Given the description of an element on the screen output the (x, y) to click on. 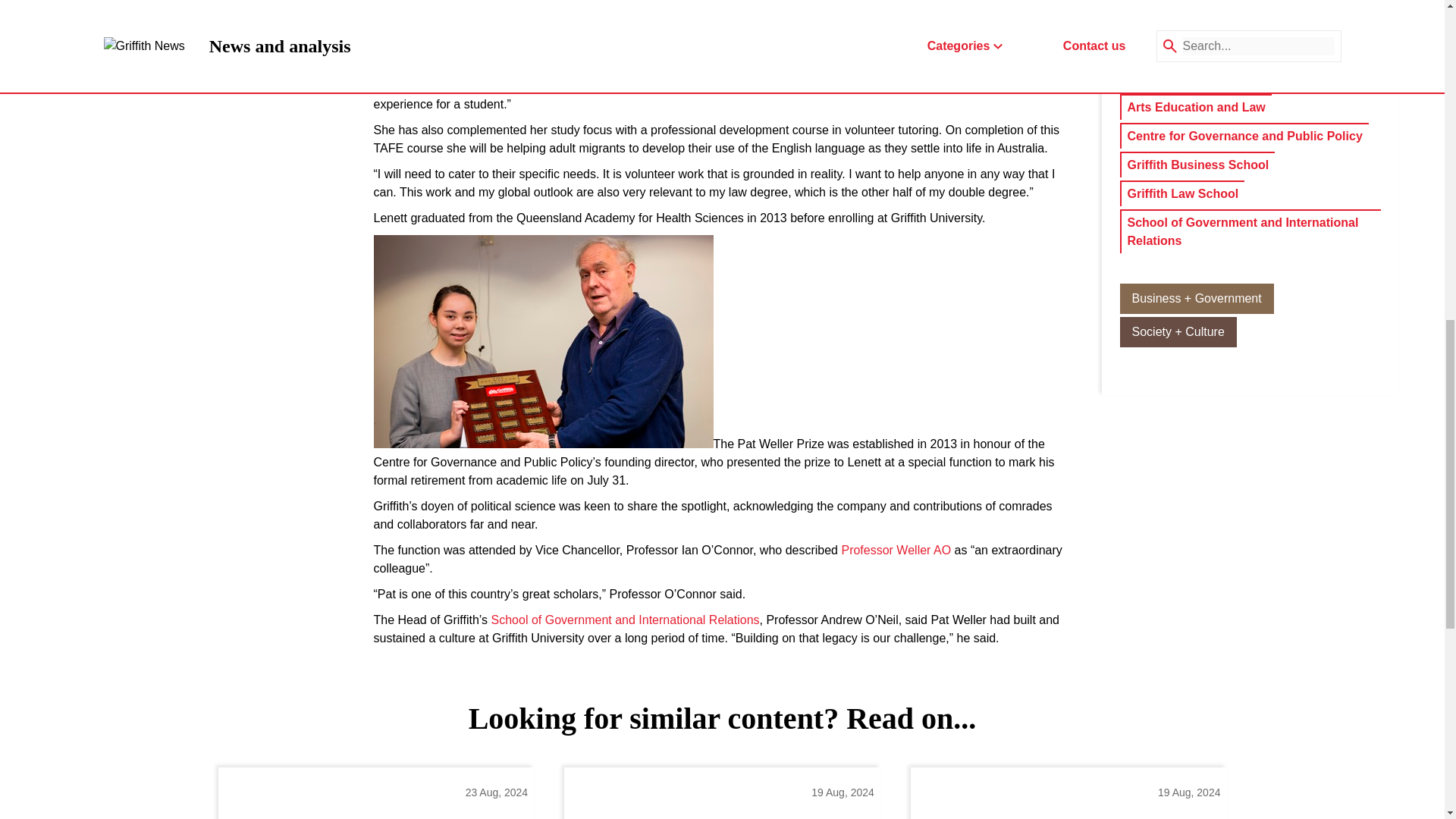
School of Government and International Relations (626, 619)
Griffith Business School (1197, 165)
Centre for Governance and Public Policy (1243, 136)
More from Stephen (1249, 21)
Arts Education and Law (1195, 107)
Professor Weller AO (895, 550)
